Given the description of an element on the screen output the (x, y) to click on. 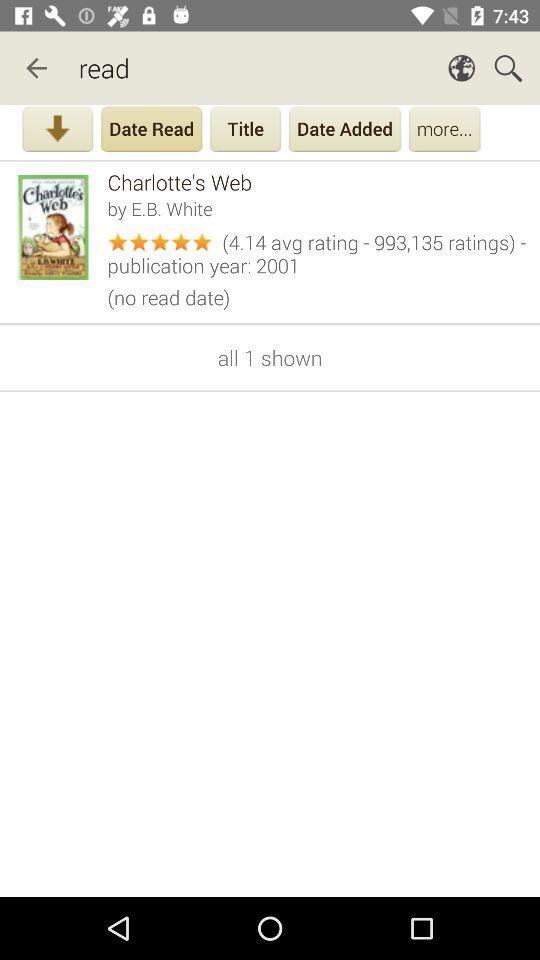
select the item to the left of date added item (245, 131)
